Given the description of an element on the screen output the (x, y) to click on. 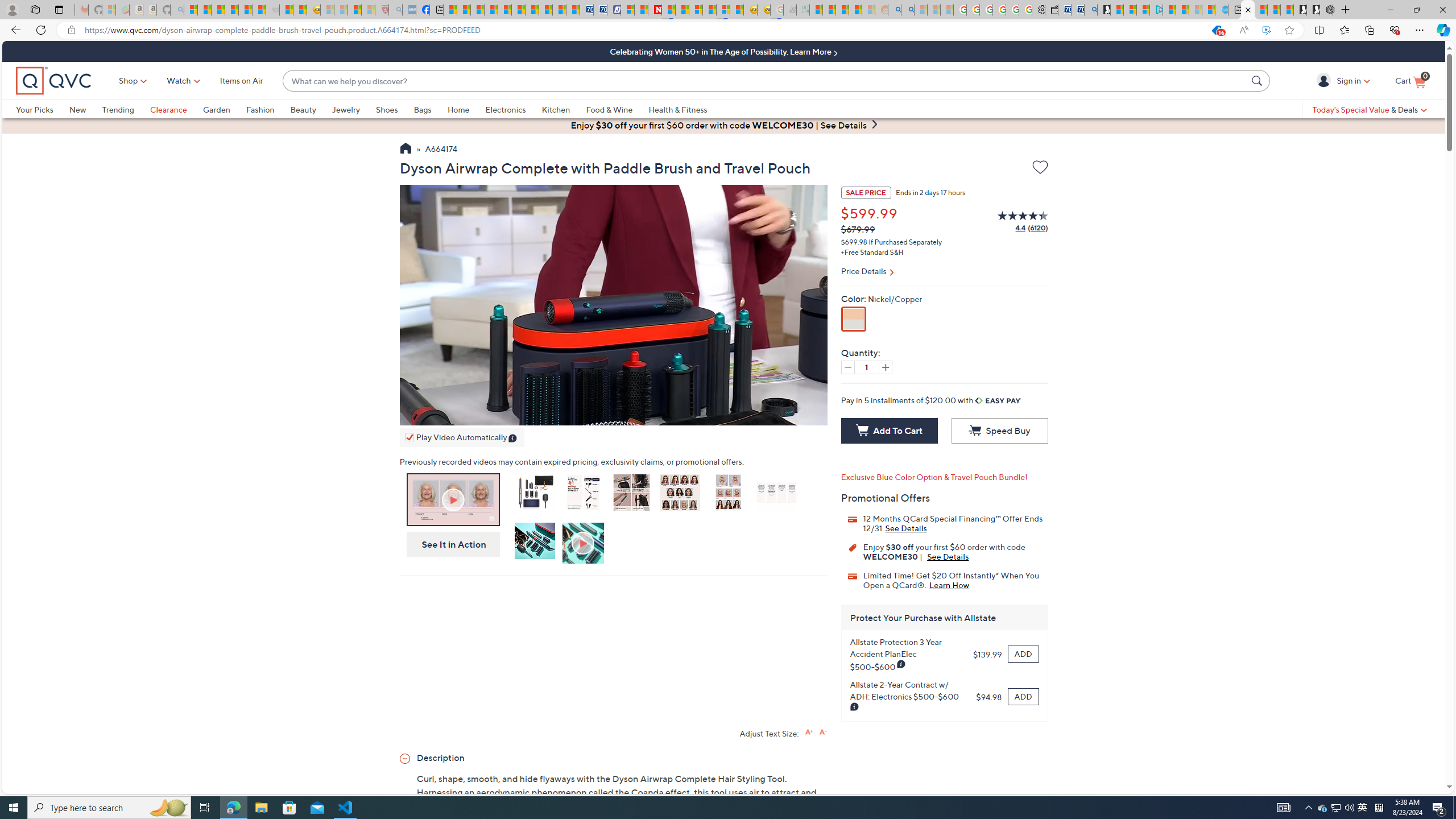
Cart is Empty  (1409, 81)
Home | Sky Blue Bikes - Sky Blue Bikes (1221, 9)
Electronics (512, 109)
Jewelry (353, 109)
Kitchen (563, 109)
Increase font size (808, 731)
Latest Politics News & Archive | Newsweek.com (654, 9)
Increase quantity by 1 (884, 367)
New (84, 109)
